Given the description of an element on the screen output the (x, y) to click on. 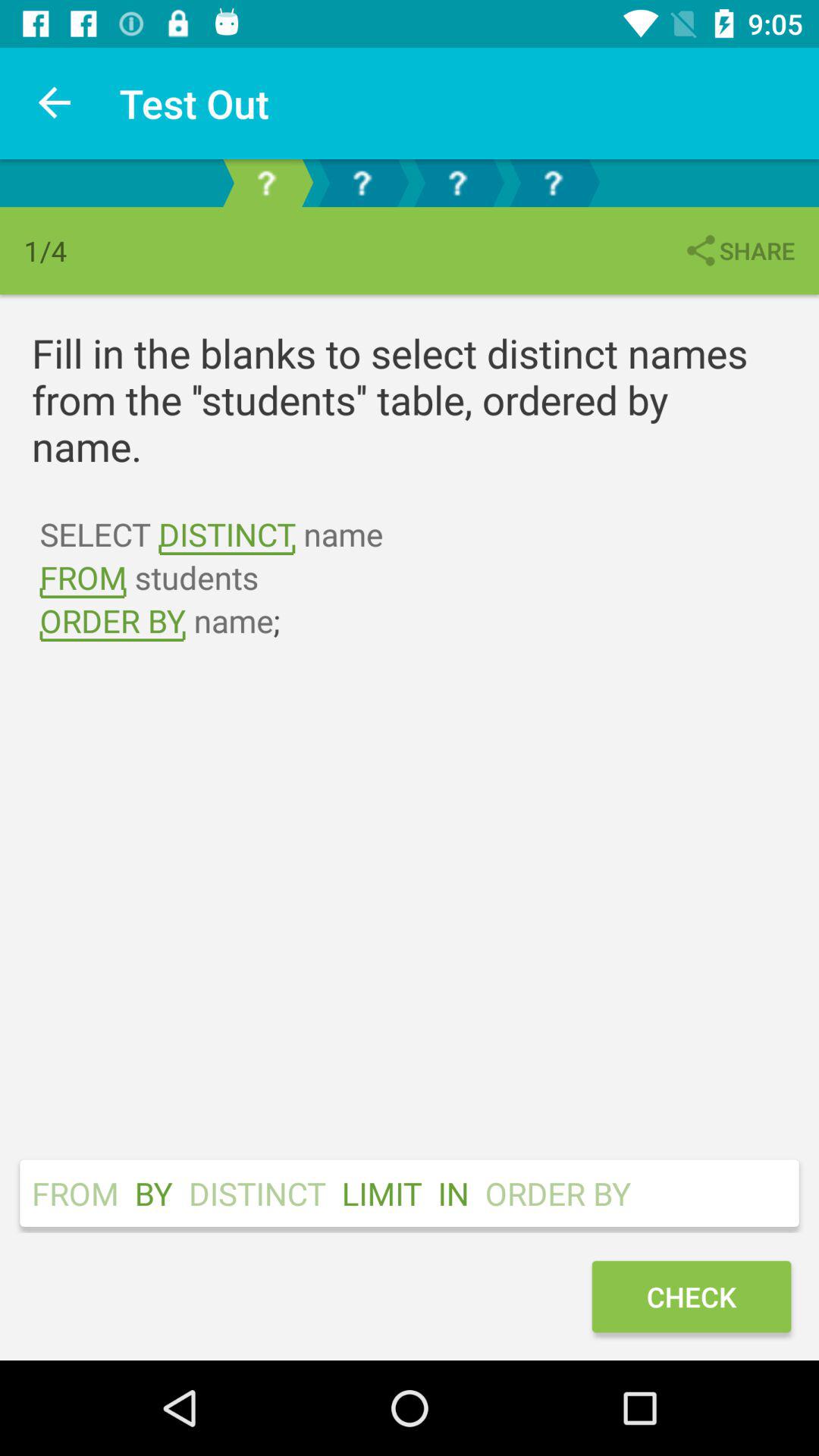
swipe until the check icon (691, 1296)
